Given the description of an element on the screen output the (x, y) to click on. 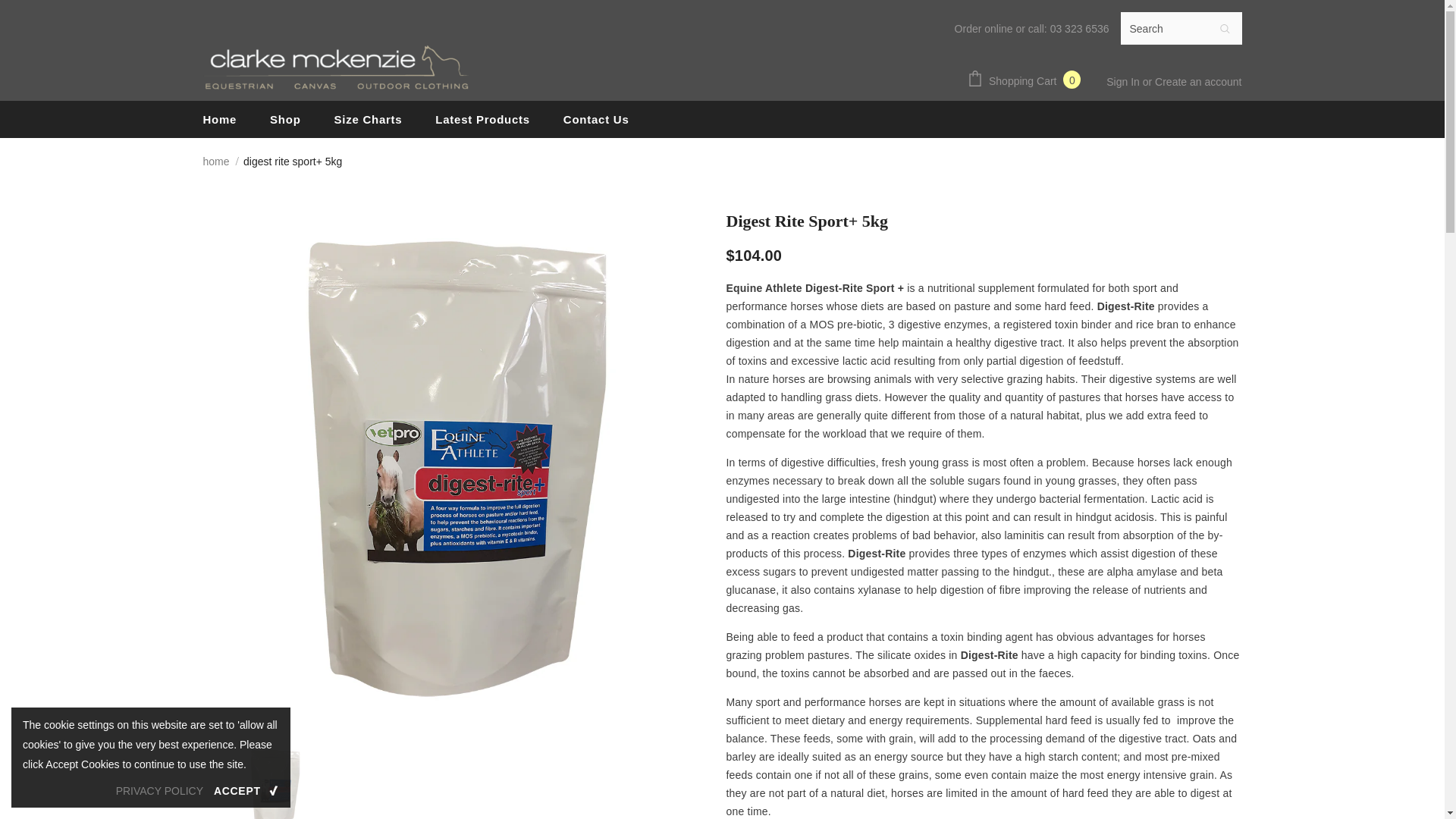
Shopping Cart 0 (1026, 80)
Home (220, 119)
Logo (335, 67)
Cart (1026, 80)
home (216, 161)
Latest Products (482, 119)
Size Charts (367, 119)
03 323 6536 (1079, 28)
Sign In (1123, 81)
Create an account (1197, 81)
Contact Us (595, 119)
